Given the description of an element on the screen output the (x, y) to click on. 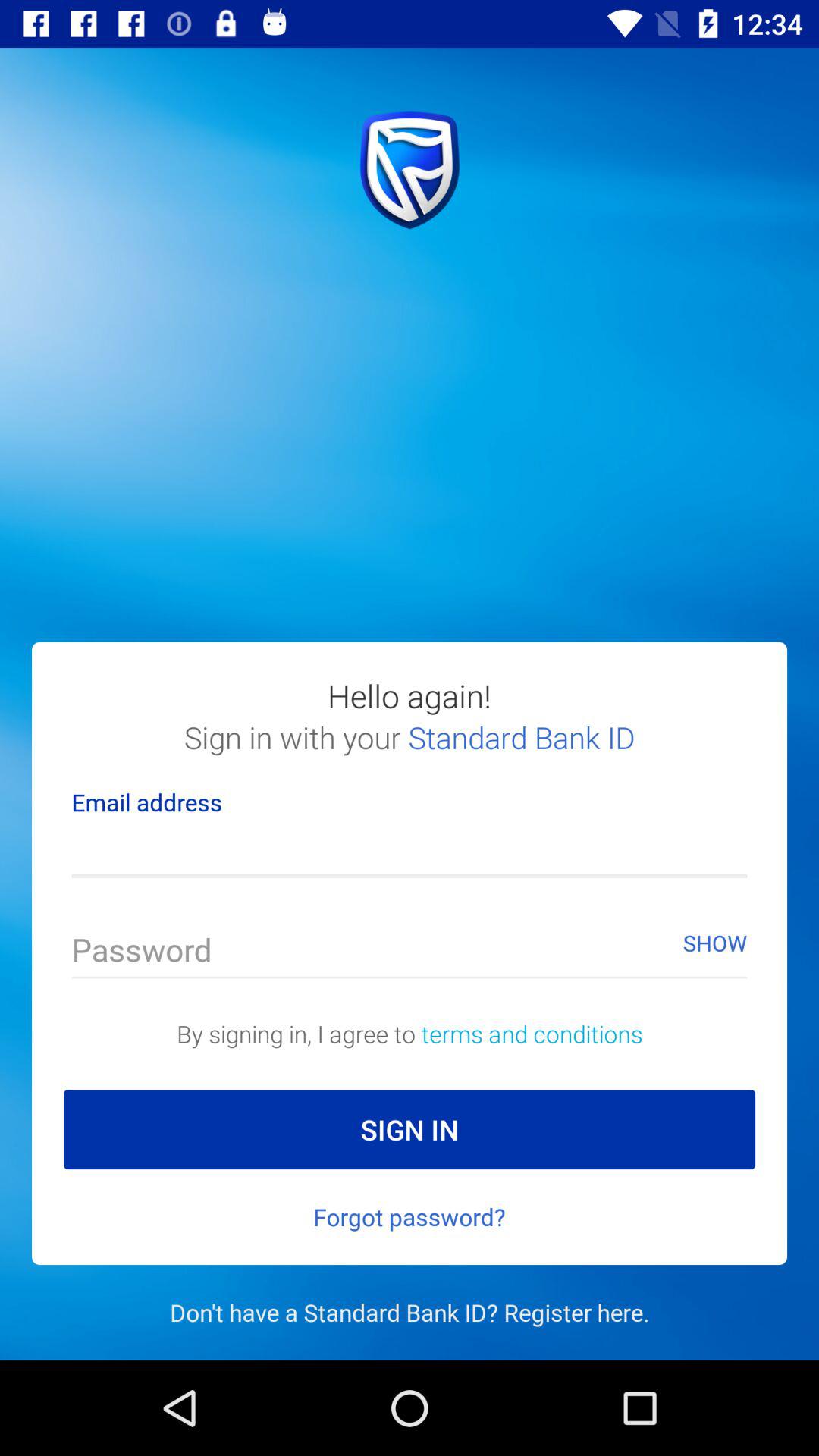
emailaddress (409, 851)
